Given the description of an element on the screen output the (x, y) to click on. 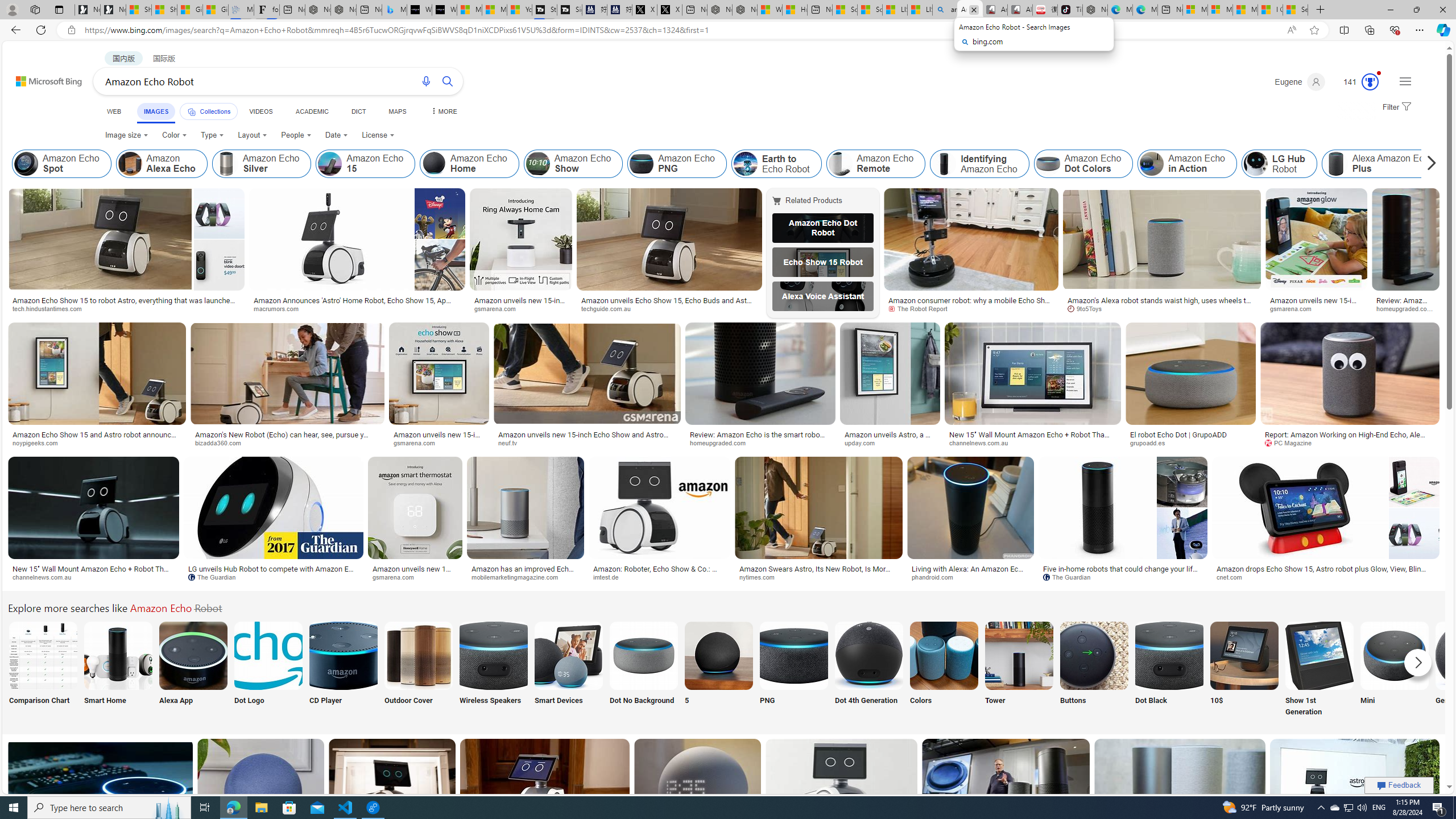
Amazon Echo with CD Player (342, 654)
Amazon Echo Remote (876, 163)
Color (173, 135)
Amazon Echo Dot Colors (1047, 163)
PC Magazine (1292, 442)
Back to Bing search (41, 78)
Amazon Echo Dot Logo (268, 654)
Amazon Echo Home (434, 163)
LG Hub Robot (1255, 163)
Scroll more suggestions right (1418, 662)
